Given the description of an element on the screen output the (x, y) to click on. 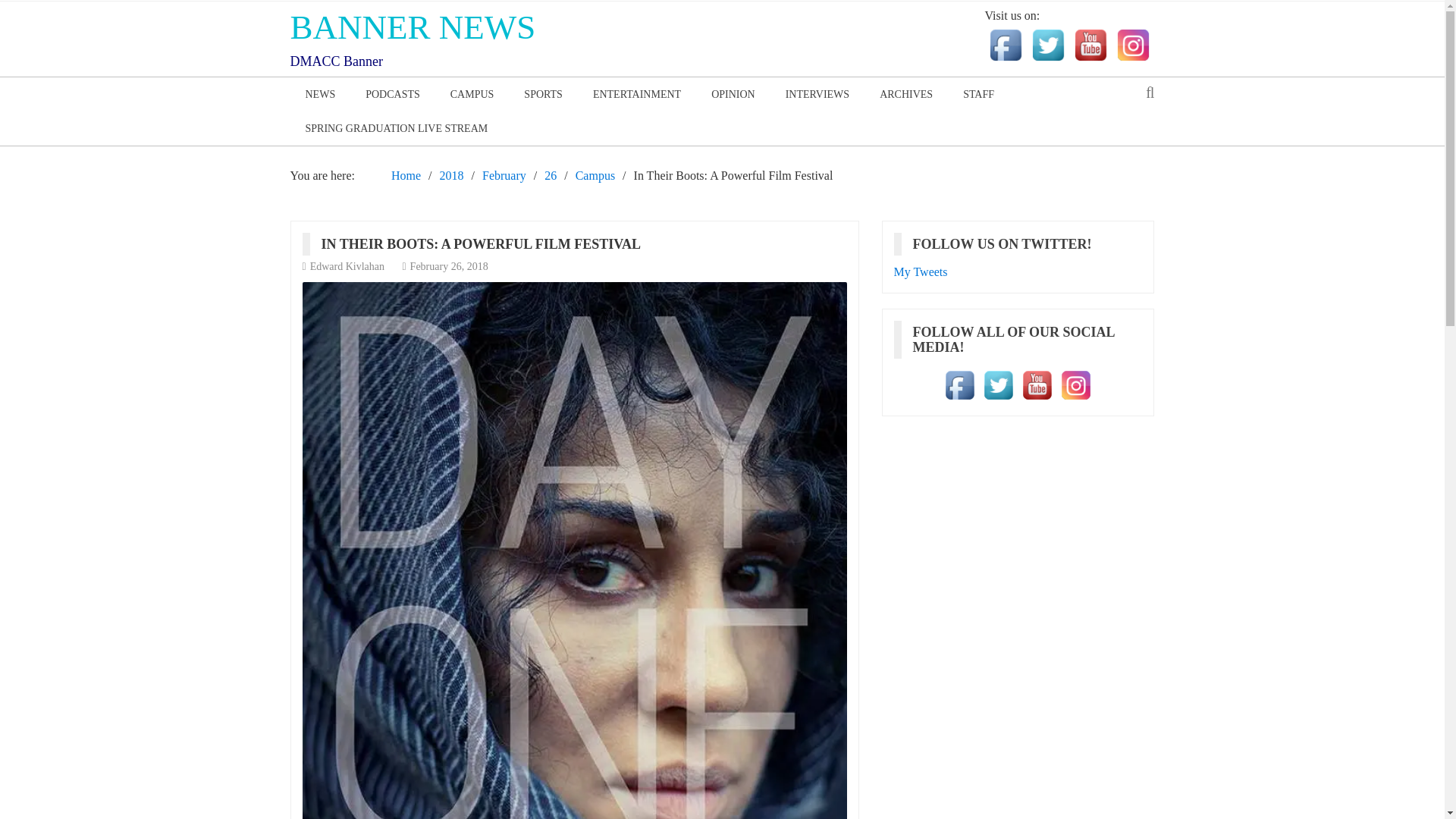
Home (405, 174)
NEWS (319, 93)
Visit Us On Youtube (1090, 43)
INTERVIEWS (817, 93)
OPINION (732, 93)
Visit Us On Instagram (1075, 383)
Visit Us On Instagram (1133, 43)
26 (550, 174)
ARCHIVES (905, 93)
Visit Us On Facebook (959, 383)
